Given the description of an element on the screen output the (x, y) to click on. 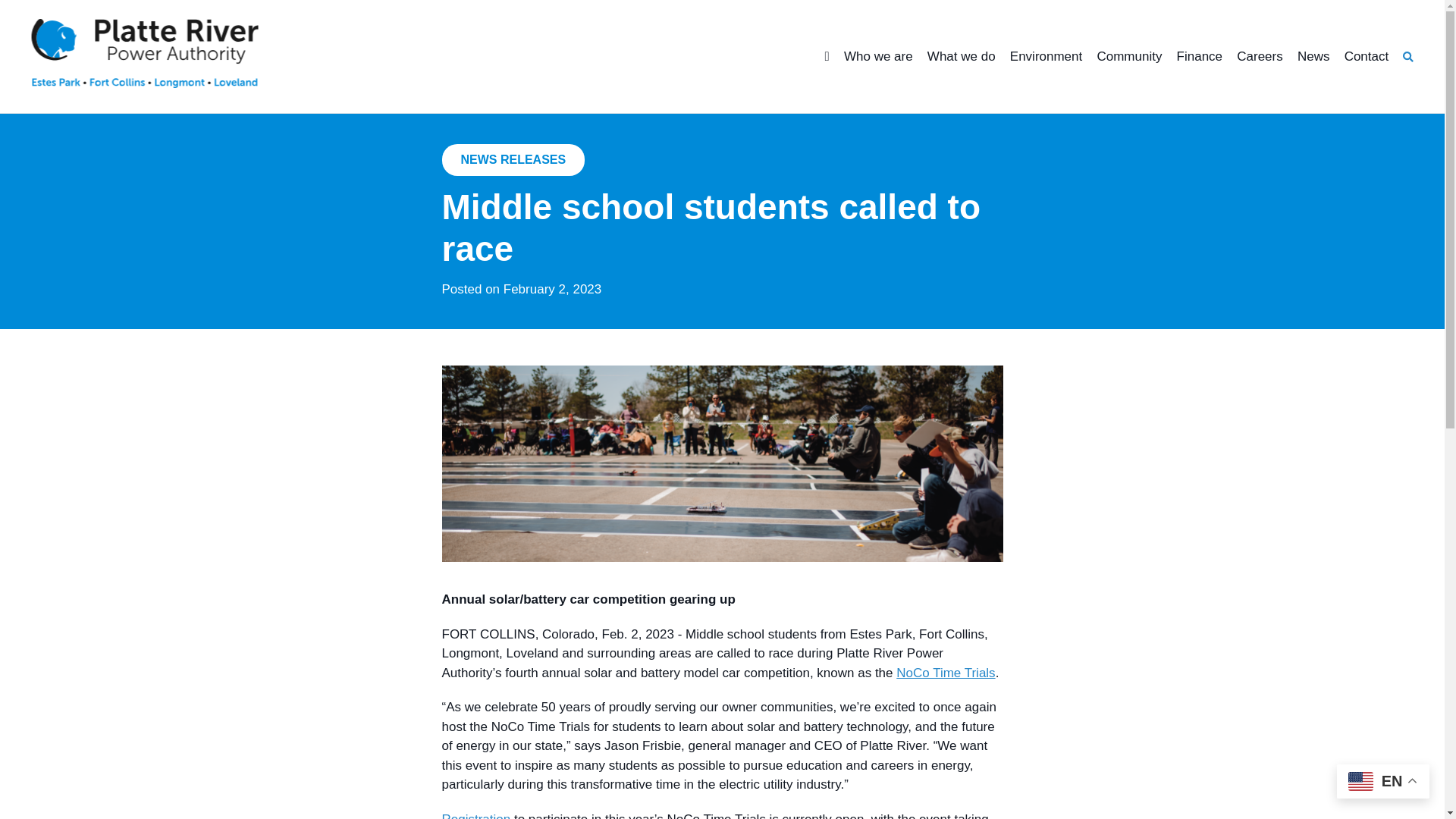
Who we are (877, 56)
What we do (961, 56)
Environment (1046, 56)
Community (1129, 56)
